Given the description of an element on the screen output the (x, y) to click on. 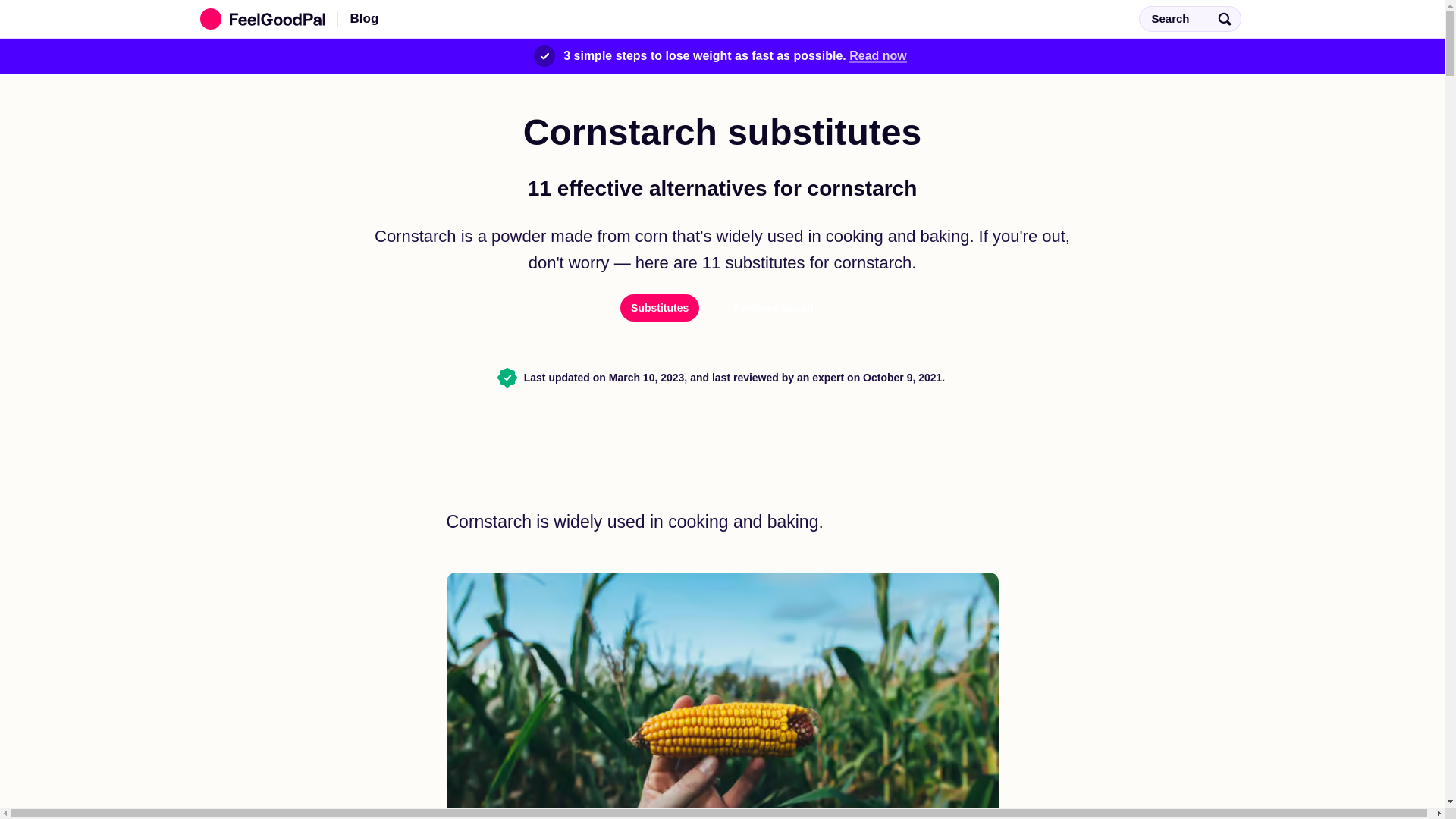
Search (1189, 18)
Substitutes (659, 307)
3 simple steps to lose weight as fast as possible. Read now (722, 55)
